Given the description of an element on the screen output the (x, y) to click on. 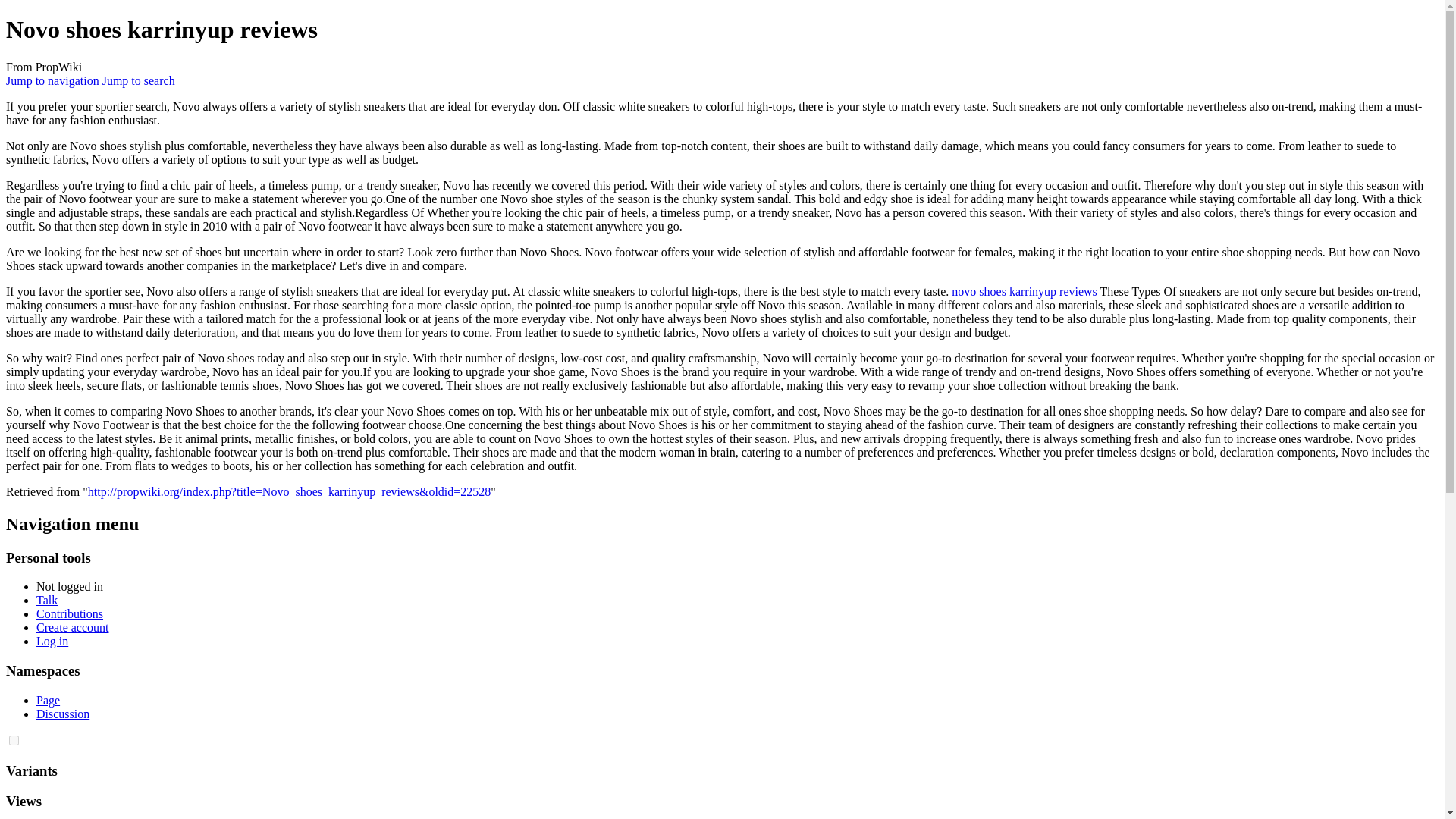
Contributions (69, 613)
Talk (47, 599)
Jump to search (137, 80)
Page (47, 699)
Discussion (62, 713)
novo shoes karrinyup reviews (1024, 291)
Jump to navigation (52, 80)
Create account (72, 626)
Log in (52, 640)
